Given the description of an element on the screen output the (x, y) to click on. 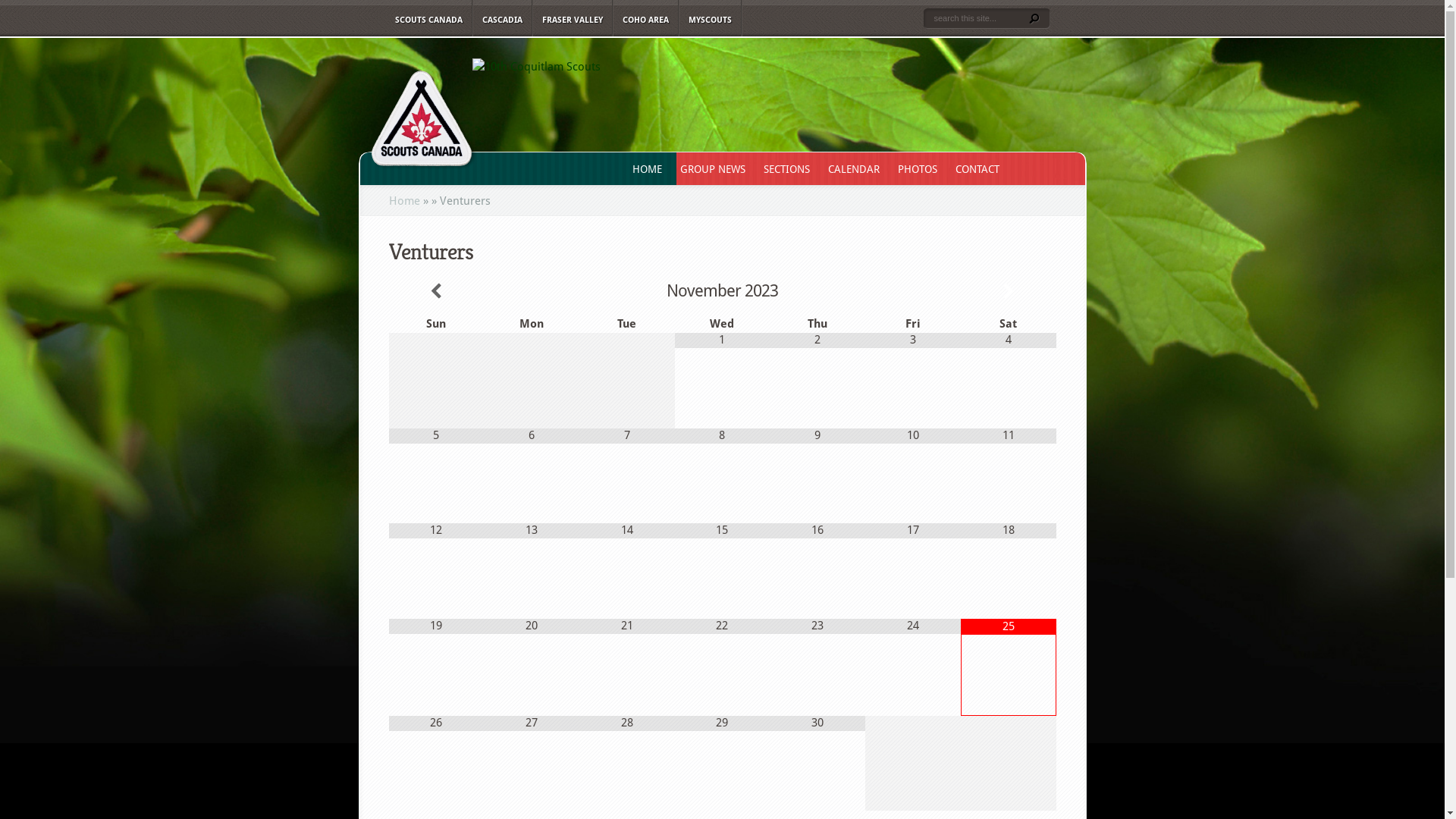
COHO AREA Element type: text (644, 18)
Next Month Element type: hover (1008, 291)
SCOUTS CANADA Element type: text (427, 18)
HOME Element type: text (644, 168)
CONTACT Element type: text (974, 168)
GROUP NEWS Element type: text (709, 168)
PHOTOS Element type: text (915, 168)
SECTIONS Element type: text (783, 168)
FRASER VALLEY Element type: text (571, 18)
Home Element type: text (403, 200)
MYSCOUTS Element type: text (709, 18)
CASCADIA Element type: text (502, 18)
CALENDAR Element type: text (851, 168)
Previous Month Element type: hover (435, 291)
